Given the description of an element on the screen output the (x, y) to click on. 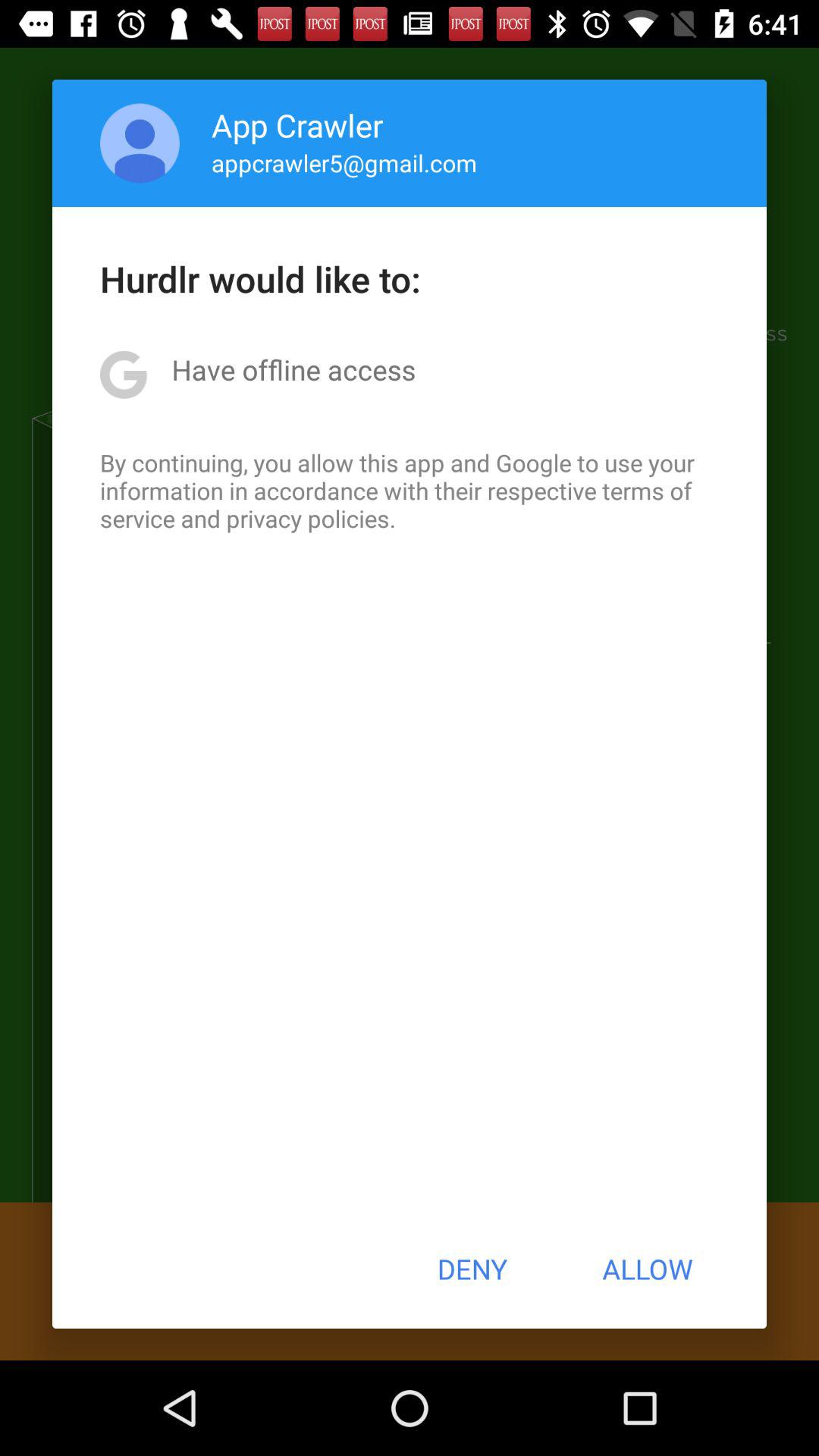
launch the have offline access item (293, 369)
